Given the description of an element on the screen output the (x, y) to click on. 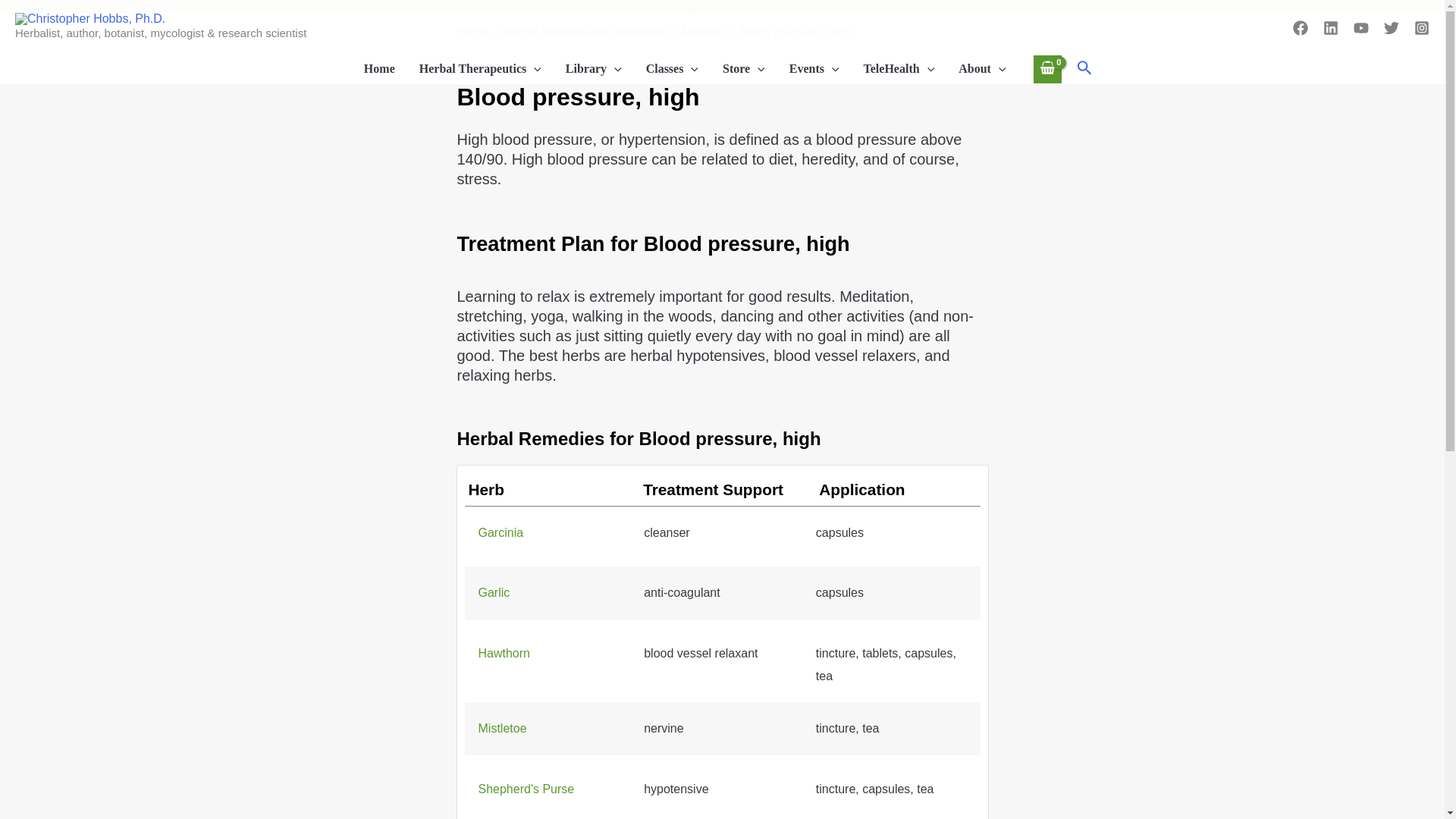
Herbal Therapeutics (480, 69)
Home (379, 69)
Library (593, 69)
